Given the description of an element on the screen output the (x, y) to click on. 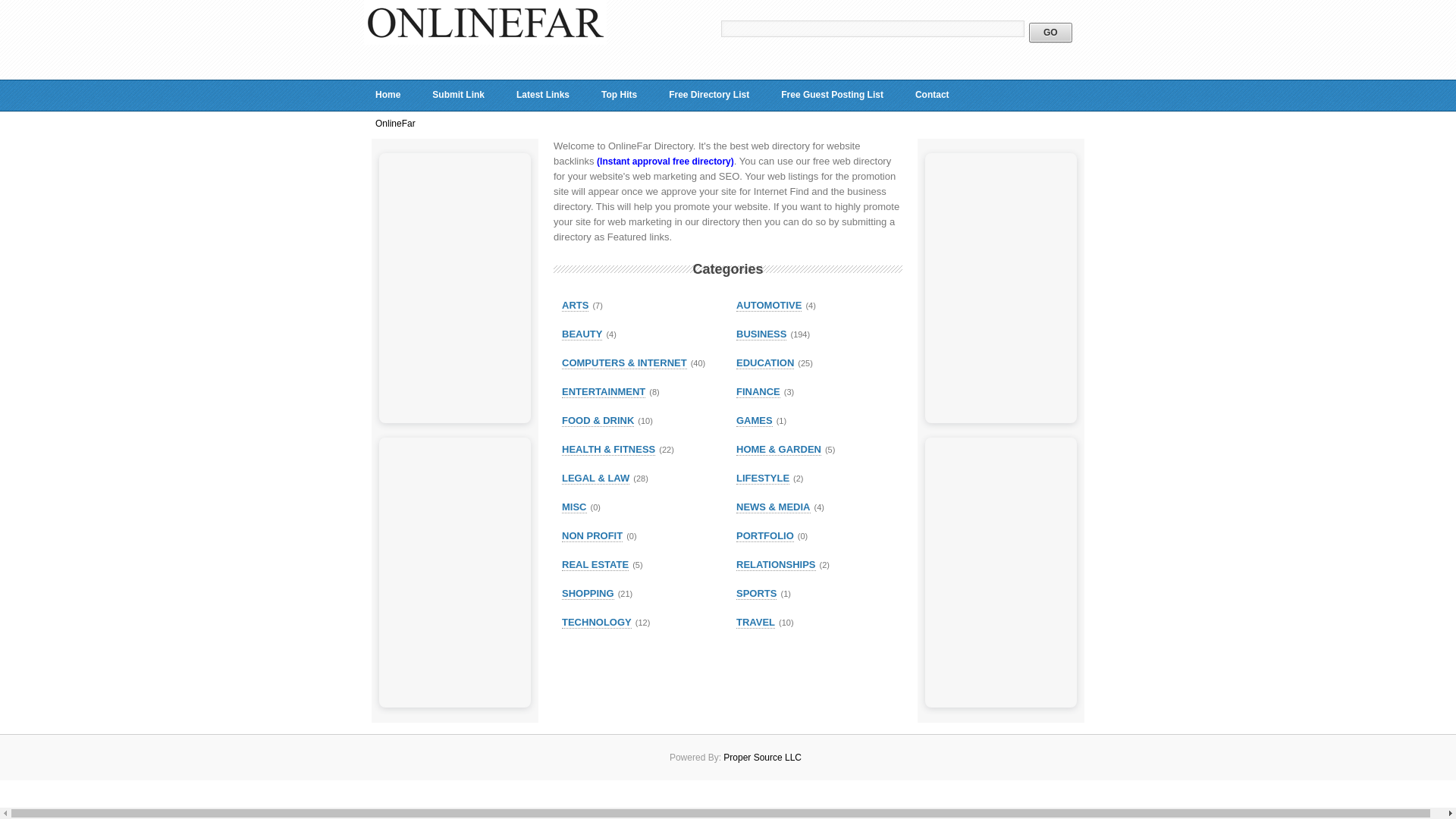
RELATIONSHIPS (775, 564)
Free Guest Posting List (832, 95)
OnlineFar (485, 41)
Education (764, 363)
Latest Links (542, 95)
Misc (574, 507)
BEAUTY (582, 334)
EDUCATION (764, 363)
GO (1050, 32)
GO (1050, 32)
Instant approval free directory (664, 161)
GAMES (754, 420)
TRAVEL (755, 622)
Business (761, 334)
Top Hits (618, 95)
